Given the description of an element on the screen output the (x, y) to click on. 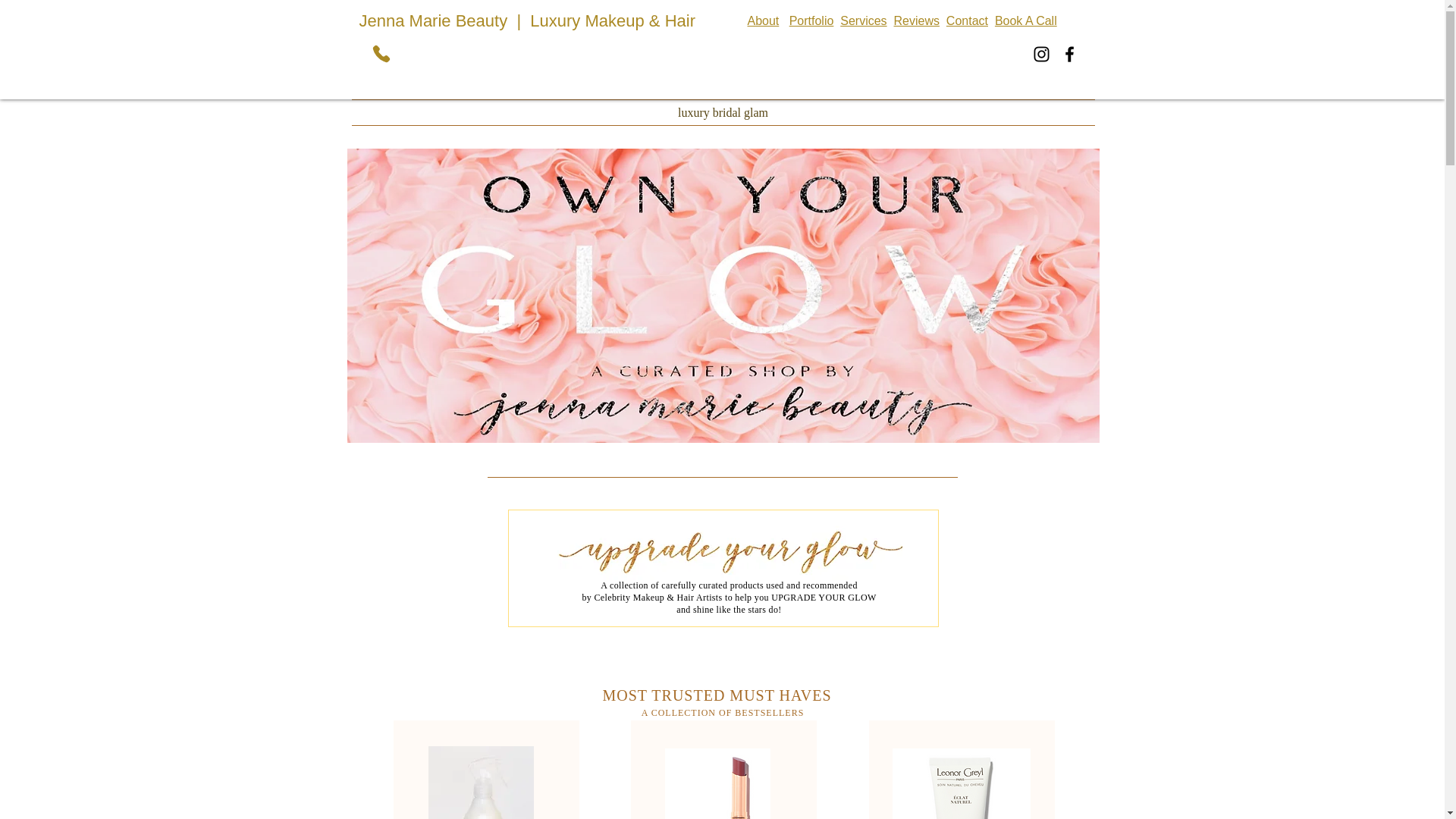
luxury bridal glam (723, 112)
Book A Call (1025, 20)
Screen Shot 2020-12-04 at 2.27.57 PM.png (716, 783)
Screen Shot 2020-12-04 at 2.18.13 PM.png (960, 783)
Contact (967, 20)
Portfolio (811, 20)
Services (863, 20)
Reviews (916, 20)
About (763, 20)
